Given the description of an element on the screen output the (x, y) to click on. 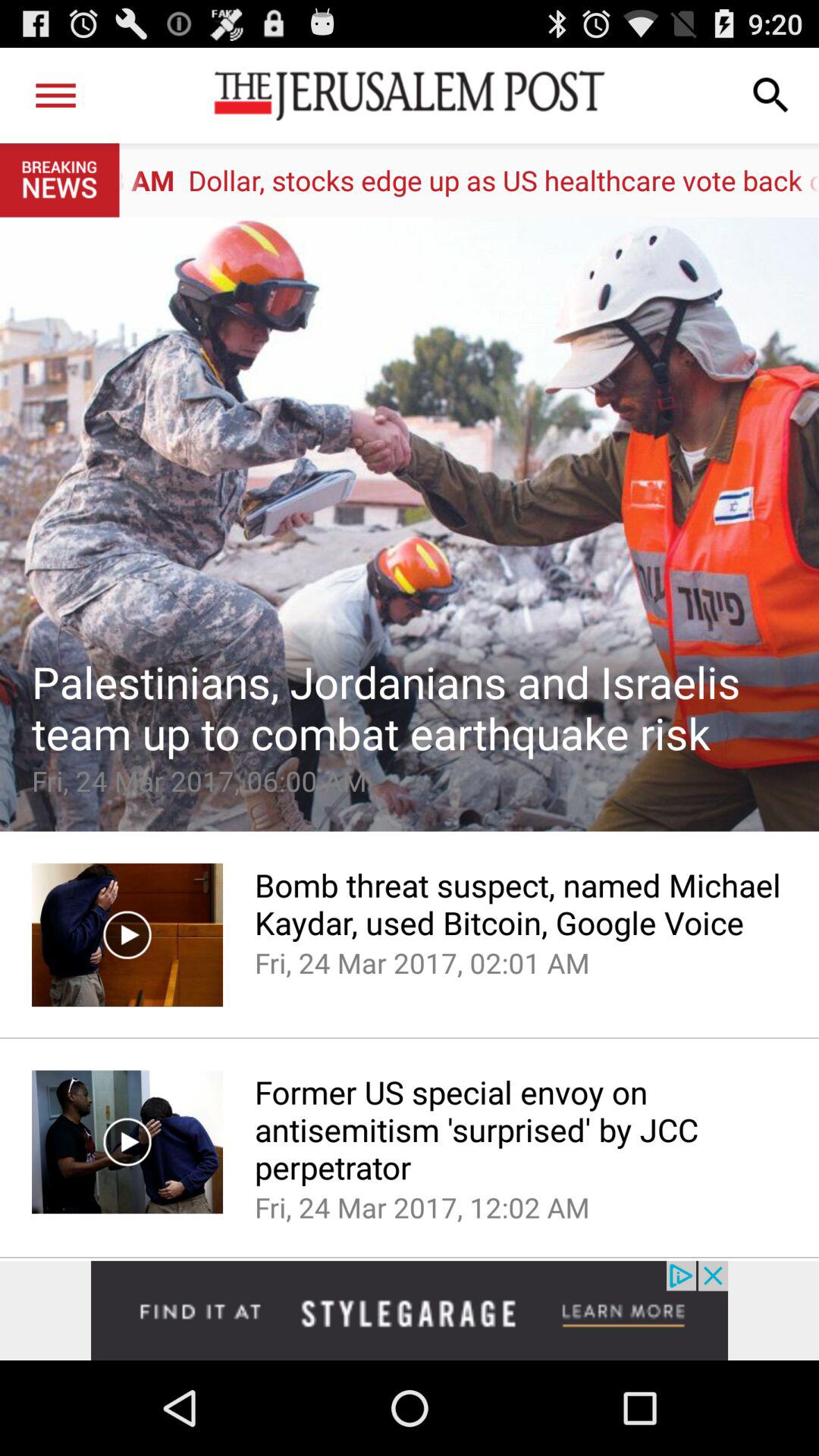
options (55, 95)
